Given the description of an element on the screen output the (x, y) to click on. 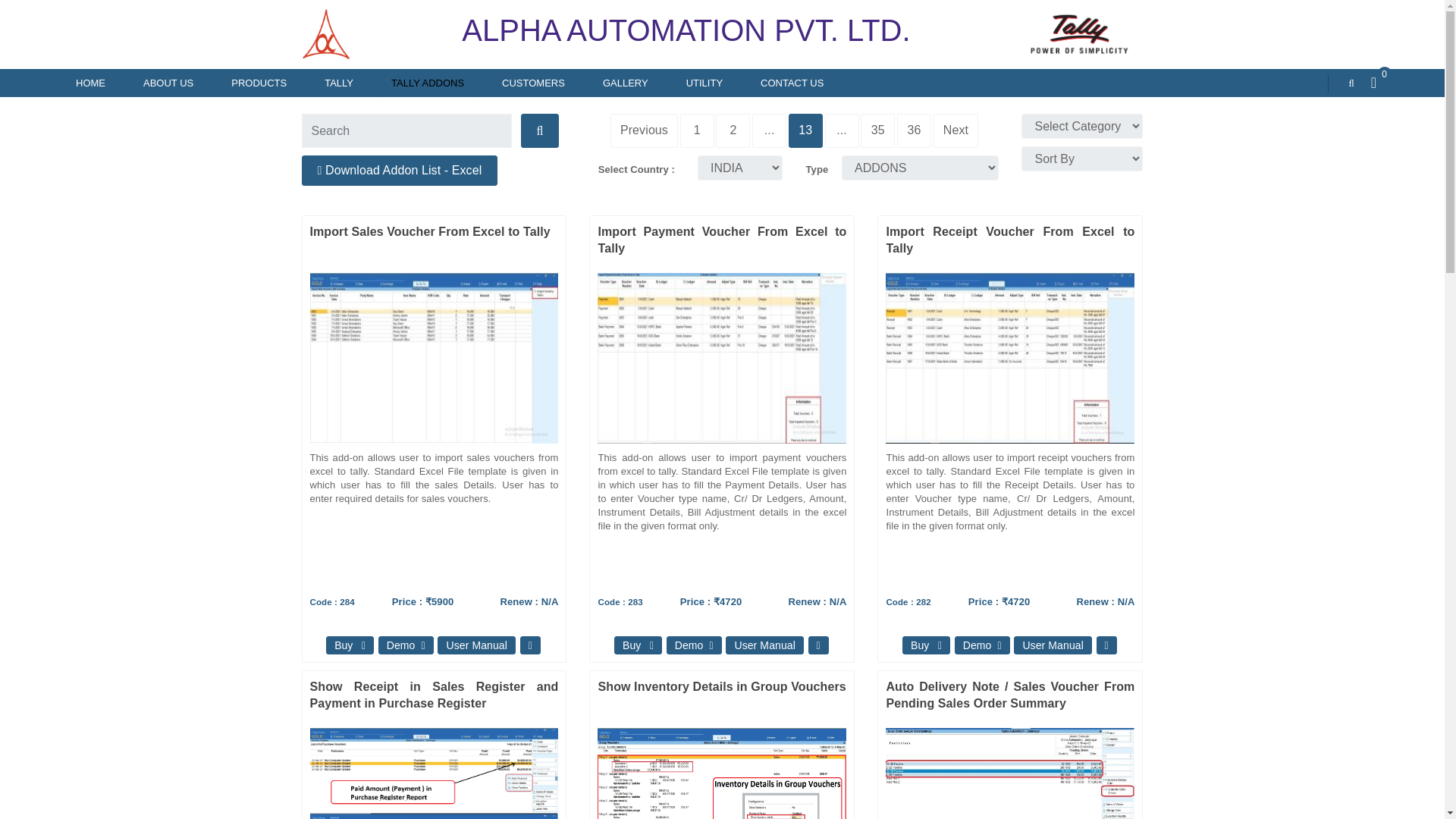
GALLERY (625, 83)
UTILITY (704, 83)
13 (805, 130)
... (769, 130)
TALLY ADDONS (427, 83)
36 (913, 130)
Import Sales Voucher From Excel to Tally (314, 283)
ABOUT US (168, 83)
HOME (90, 83)
